Given the description of an element on the screen output the (x, y) to click on. 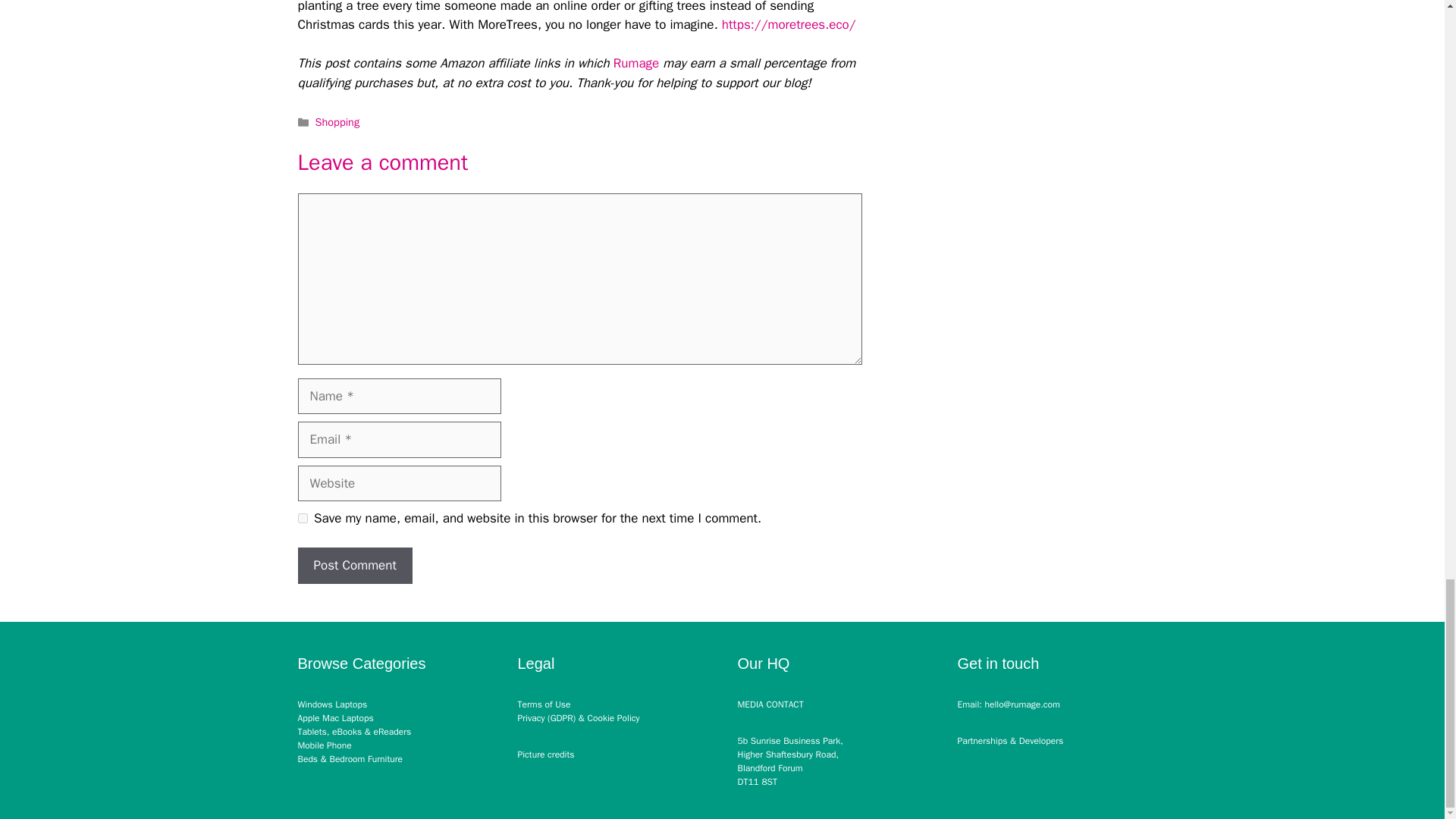
Post Comment (354, 565)
Shopping (337, 121)
yes (302, 518)
Windows Laptops (331, 704)
Apple Mac Laptops (334, 717)
Post Comment (354, 565)
Rumage (635, 63)
